Given the description of an element on the screen output the (x, y) to click on. 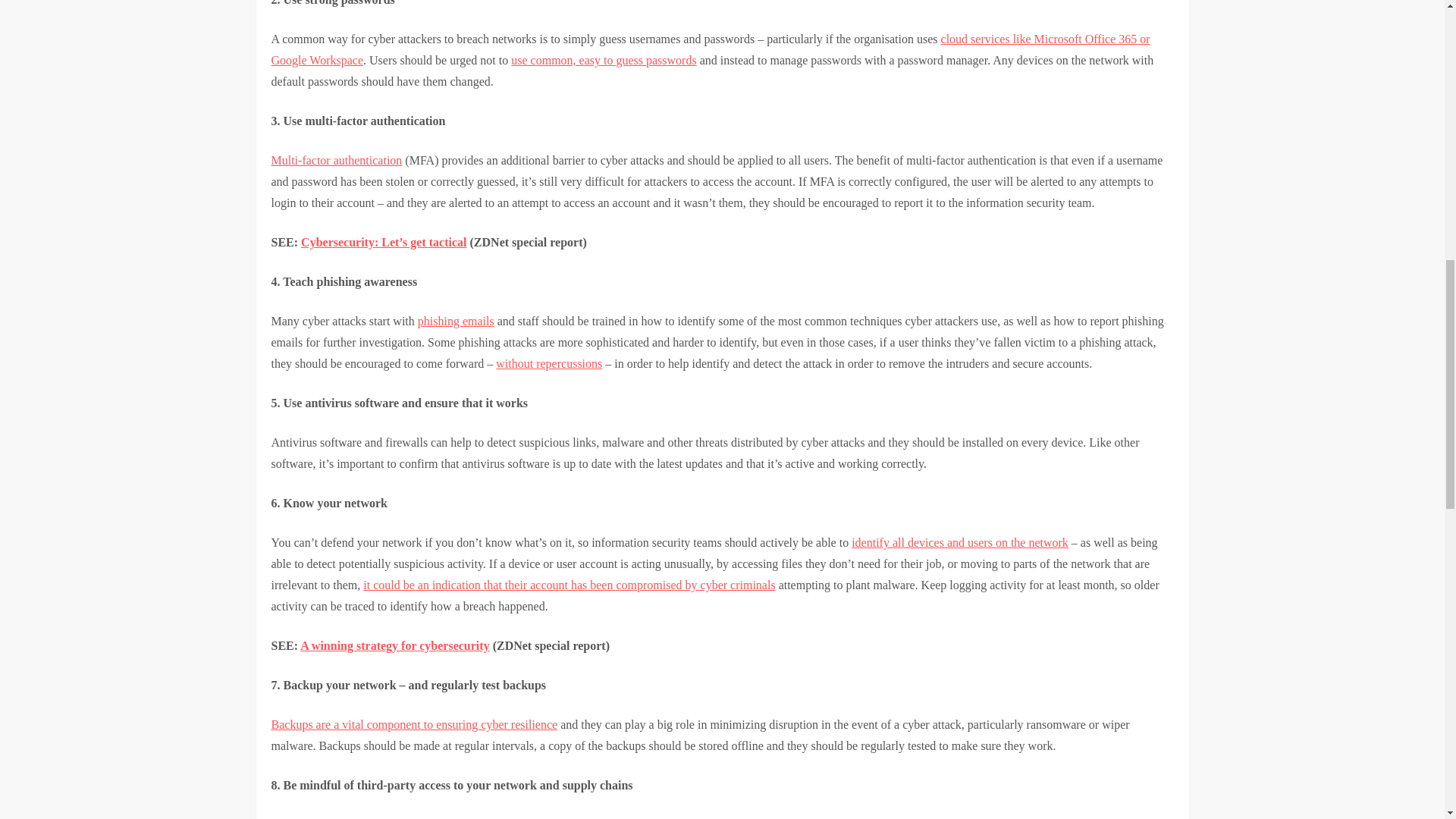
identify all devices and users on the network (959, 542)
A winning strategy for cybersecurity (394, 645)
phishing emails (456, 320)
cloud services like Microsoft Office 365 or Google Workspace (710, 49)
without repercussions (549, 363)
use common, easy to guess passwords (603, 60)
Multi-factor authentication (336, 160)
Backups are a vital component to ensuring cyber resilience (413, 724)
